Given the description of an element on the screen output the (x, y) to click on. 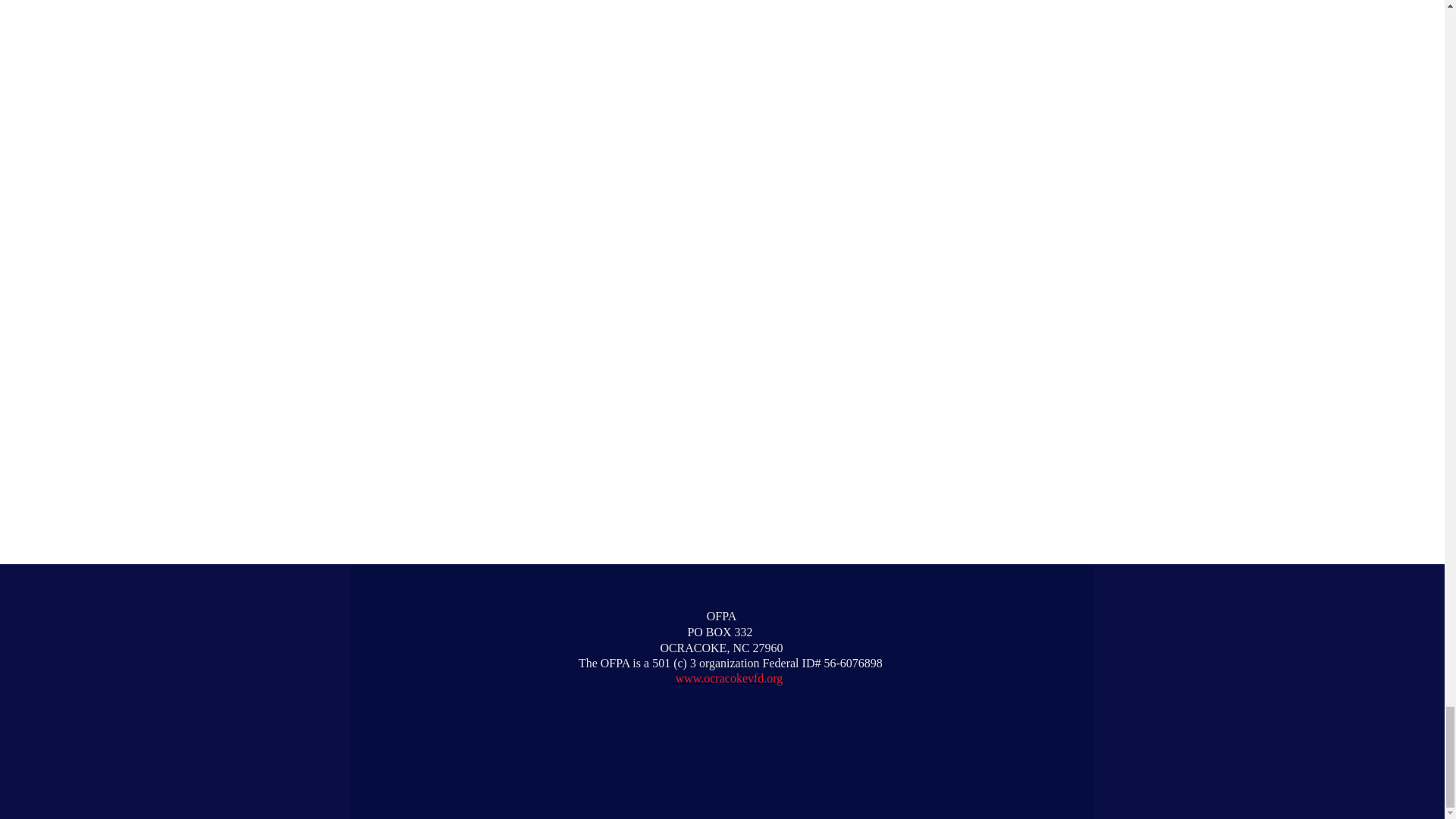
www.ocracokevfd.org (727, 677)
